Given the description of an element on the screen output the (x, y) to click on. 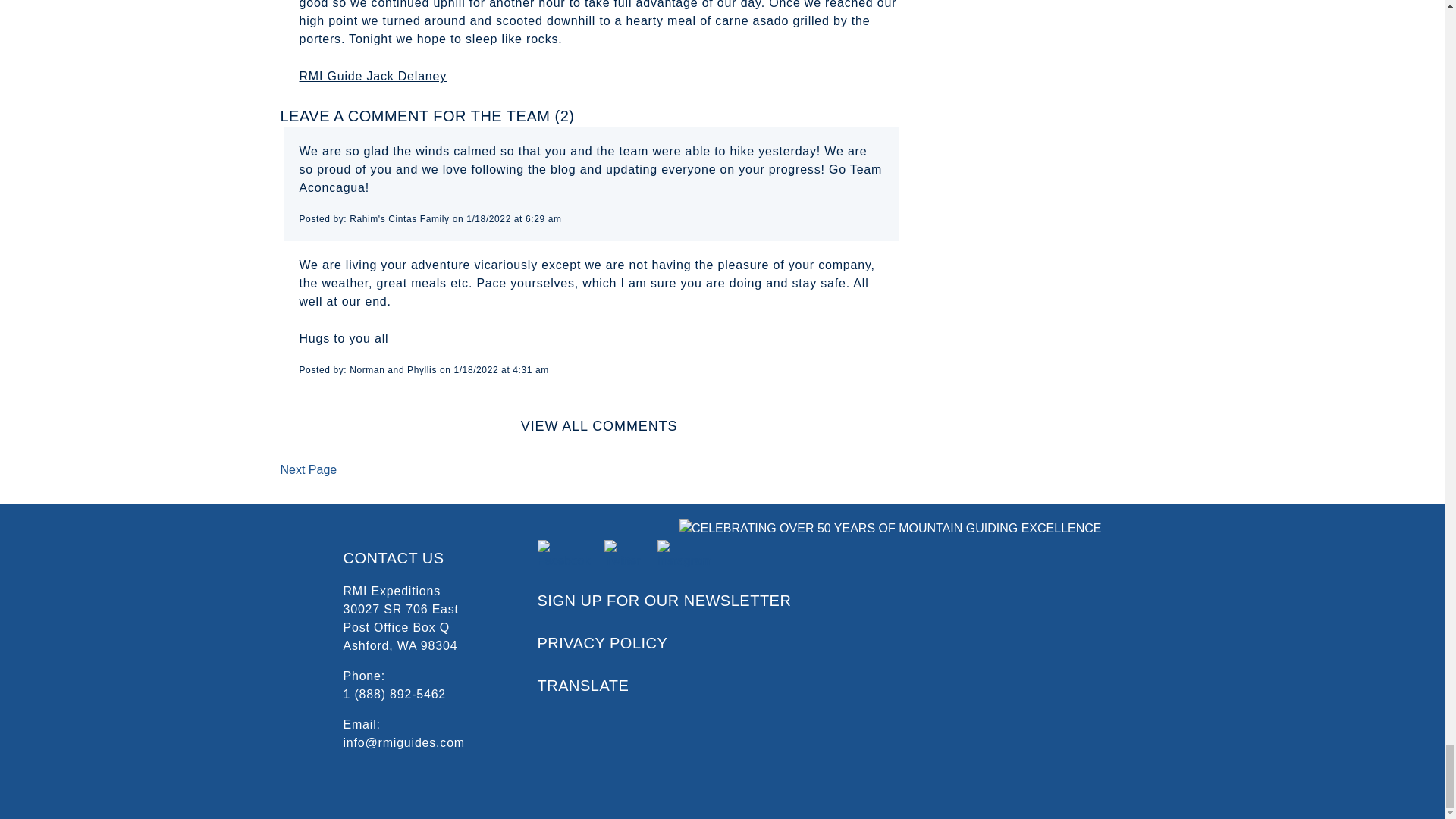
Twitter (624, 554)
Facebook (564, 554)
Instagram (685, 554)
